Given the description of an element on the screen output the (x, y) to click on. 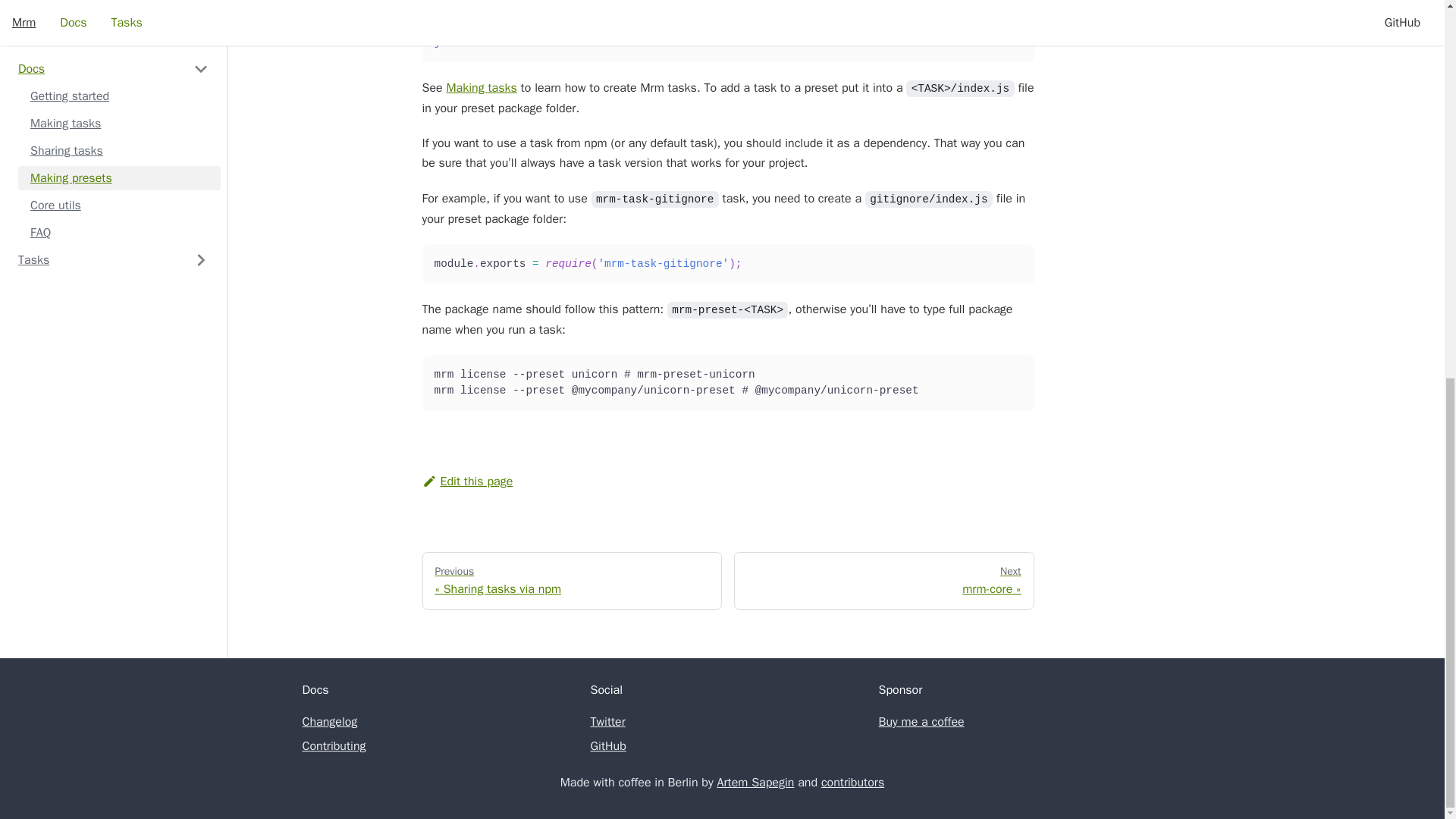
Edit this page (467, 481)
Changelog (328, 721)
Making tasks (480, 87)
